Given the description of an element on the screen output the (x, y) to click on. 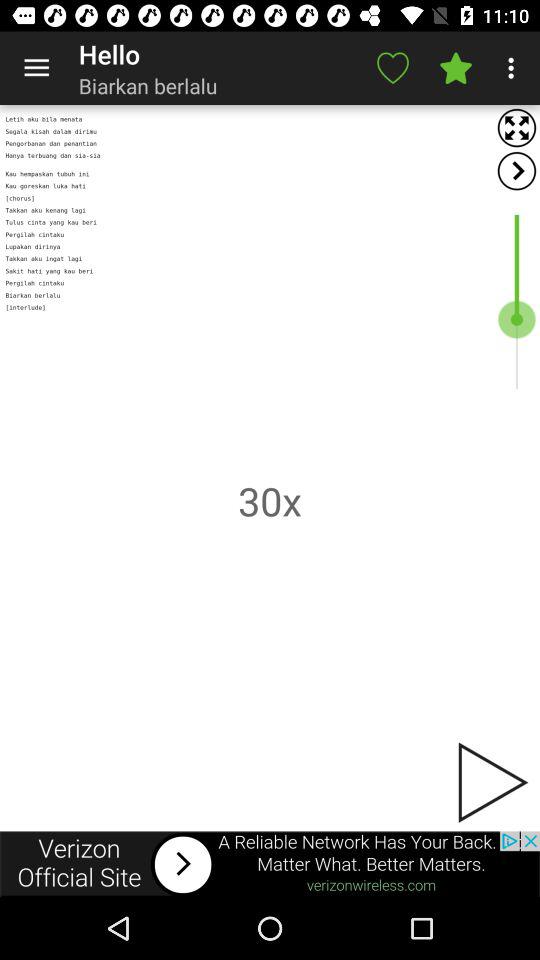
open advertisement (270, 864)
